Given the description of an element on the screen output the (x, y) to click on. 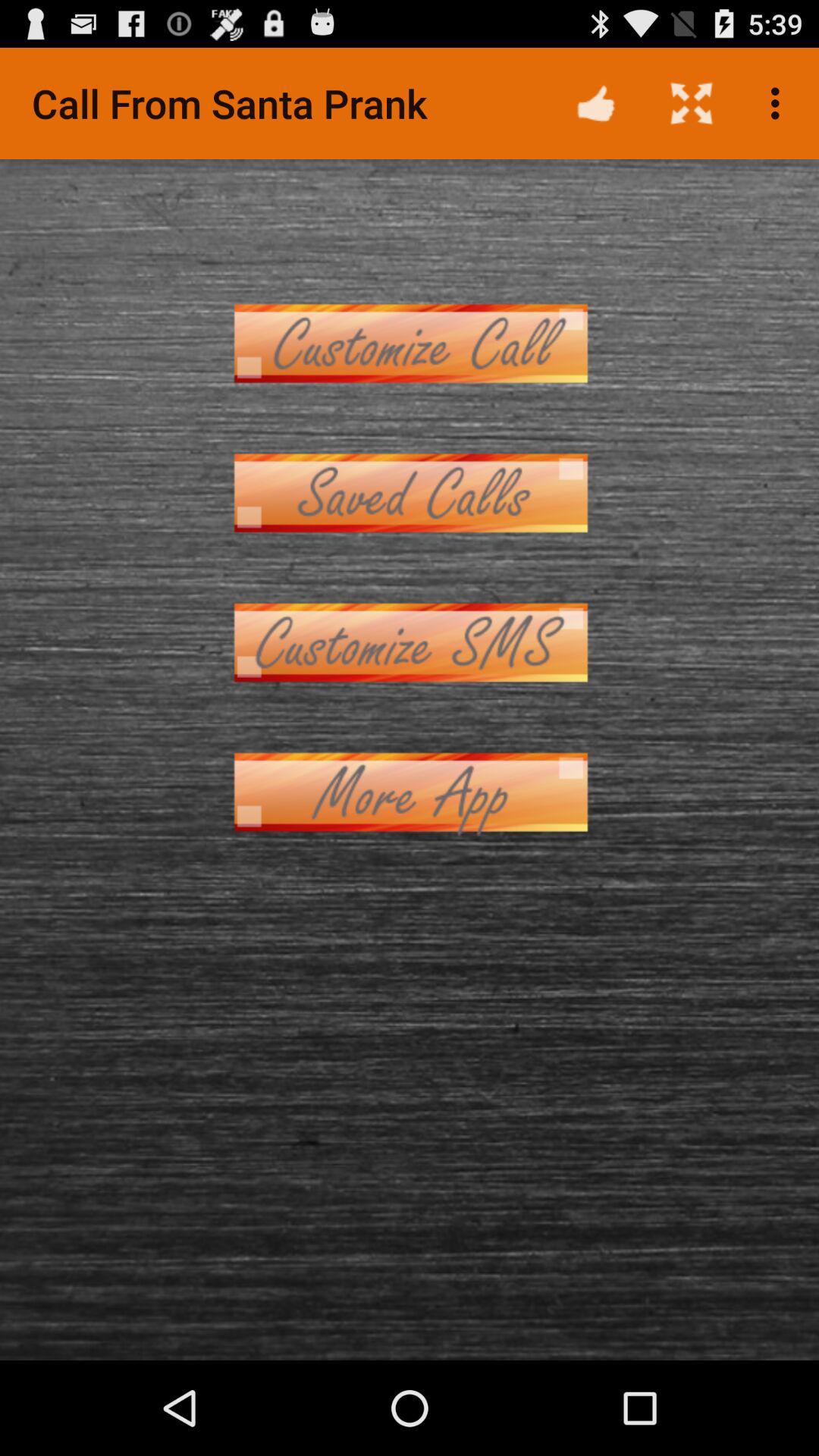
save calls (409, 492)
